Given the description of an element on the screen output the (x, y) to click on. 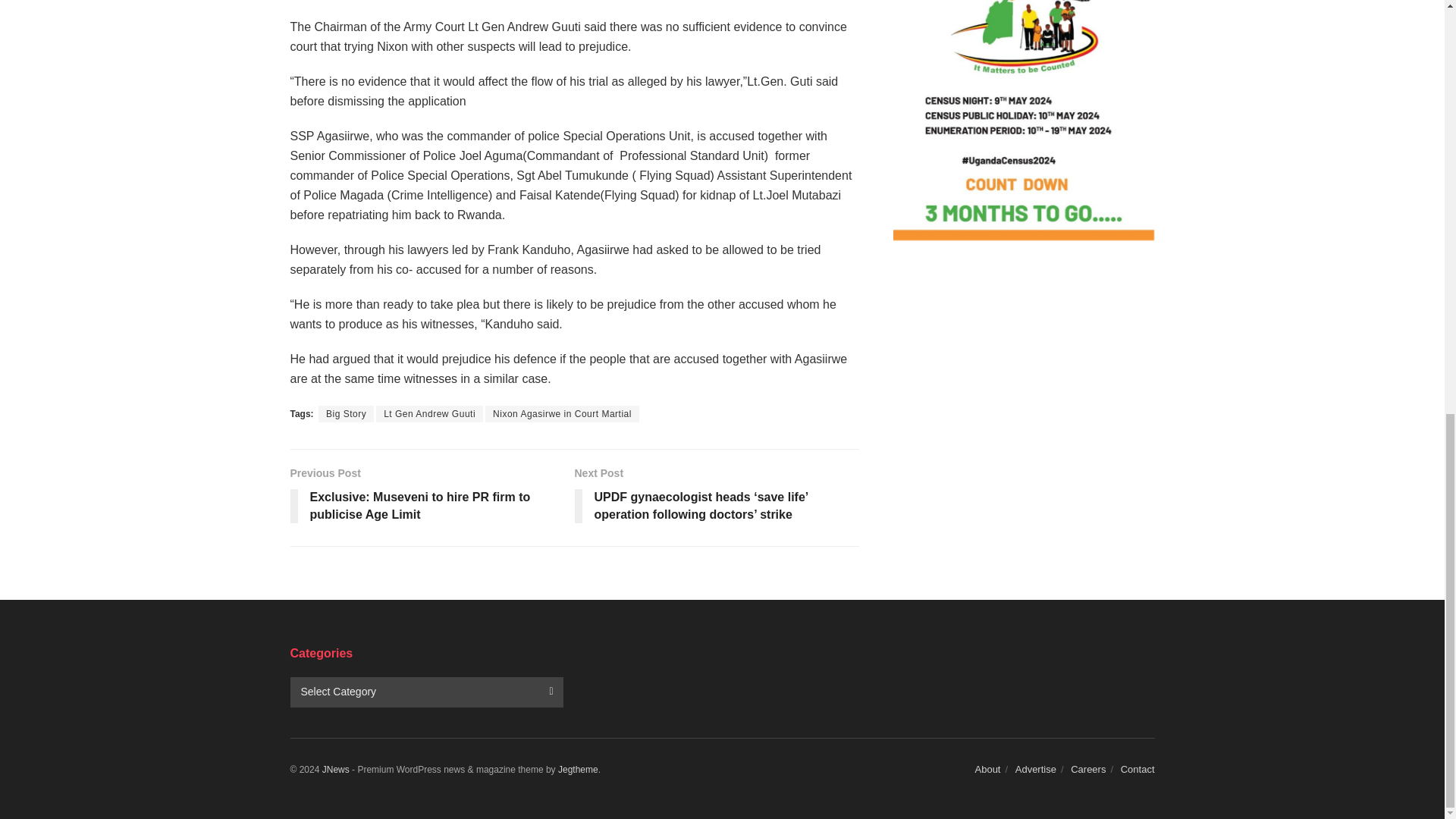
Jegtheme (577, 769)
